Given the description of an element on the screen output the (x, y) to click on. 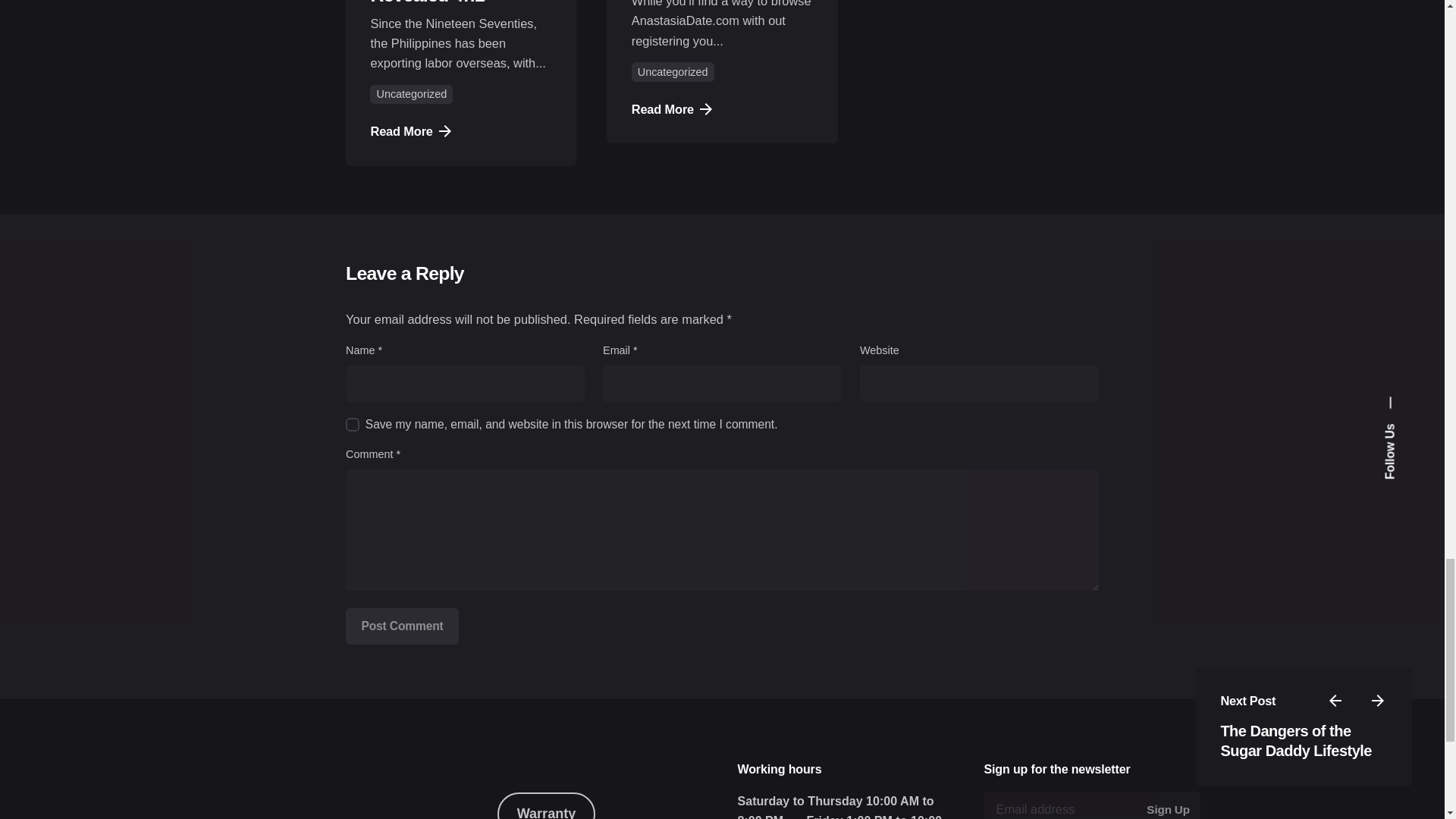
Post Comment (402, 626)
Uncategorized (410, 94)
Read More (409, 131)
yes (352, 424)
